Given the description of an element on the screen output the (x, y) to click on. 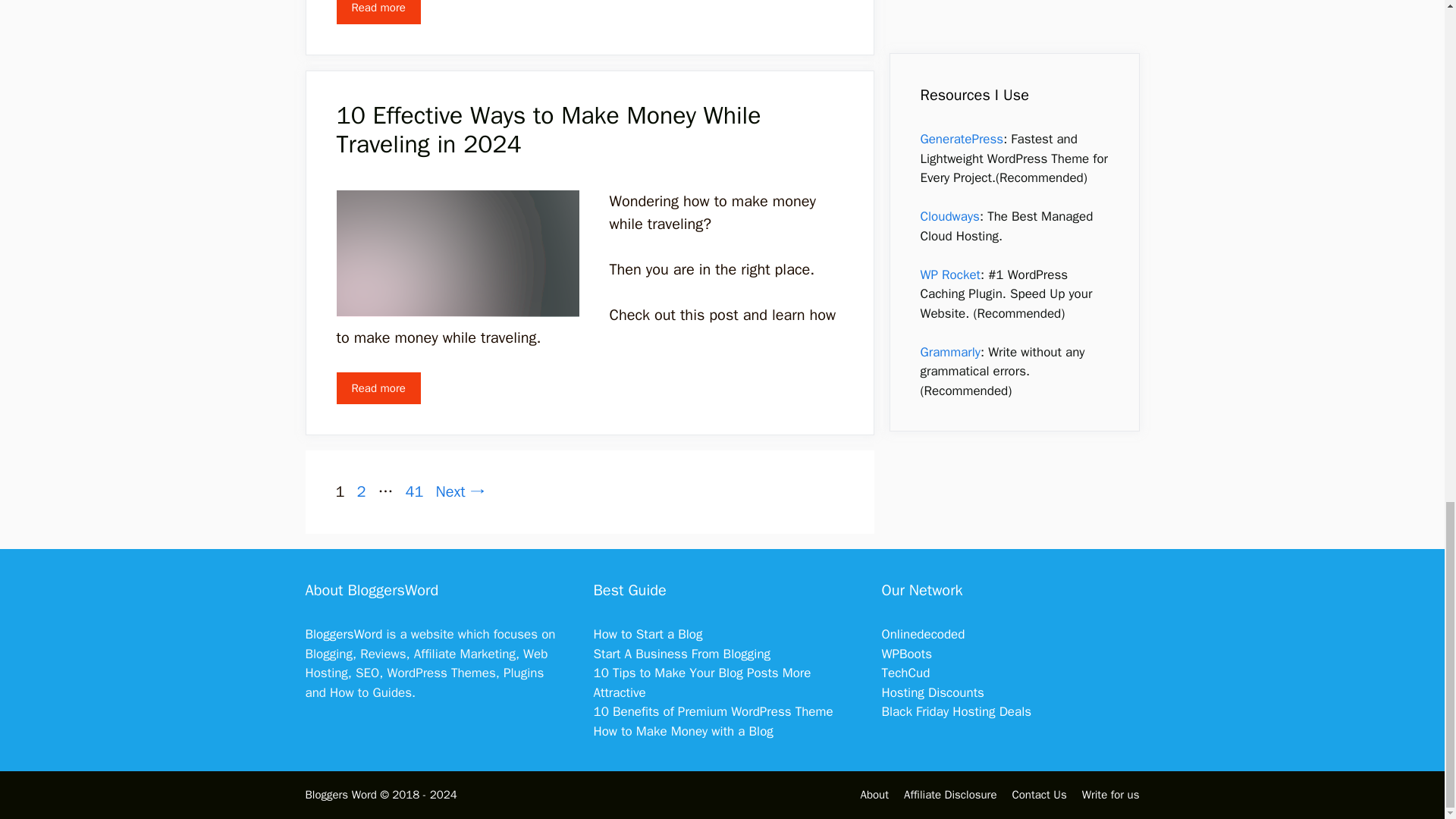
10 Tips to Make Your Blog Posts More Attractive (701, 683)
How to Earn Money as a Stay at Home Mom Easily in 2024? (378, 12)
10 Effective Ways to Make Money While Traveling in 2024 (548, 129)
Read more (378, 12)
Start A Business From Blogging (681, 653)
10 Effective Ways to Make Money While Traveling in 2024 (378, 388)
Read more (378, 388)
10 Benefits of Premium WordPress Theme (712, 711)
Onlinedecoded (921, 634)
How to Make Money with a Blog (682, 731)
How to Start a Blog (646, 634)
Scroll back to top (1406, 226)
BloggersWord (414, 491)
